Given the description of an element on the screen output the (x, y) to click on. 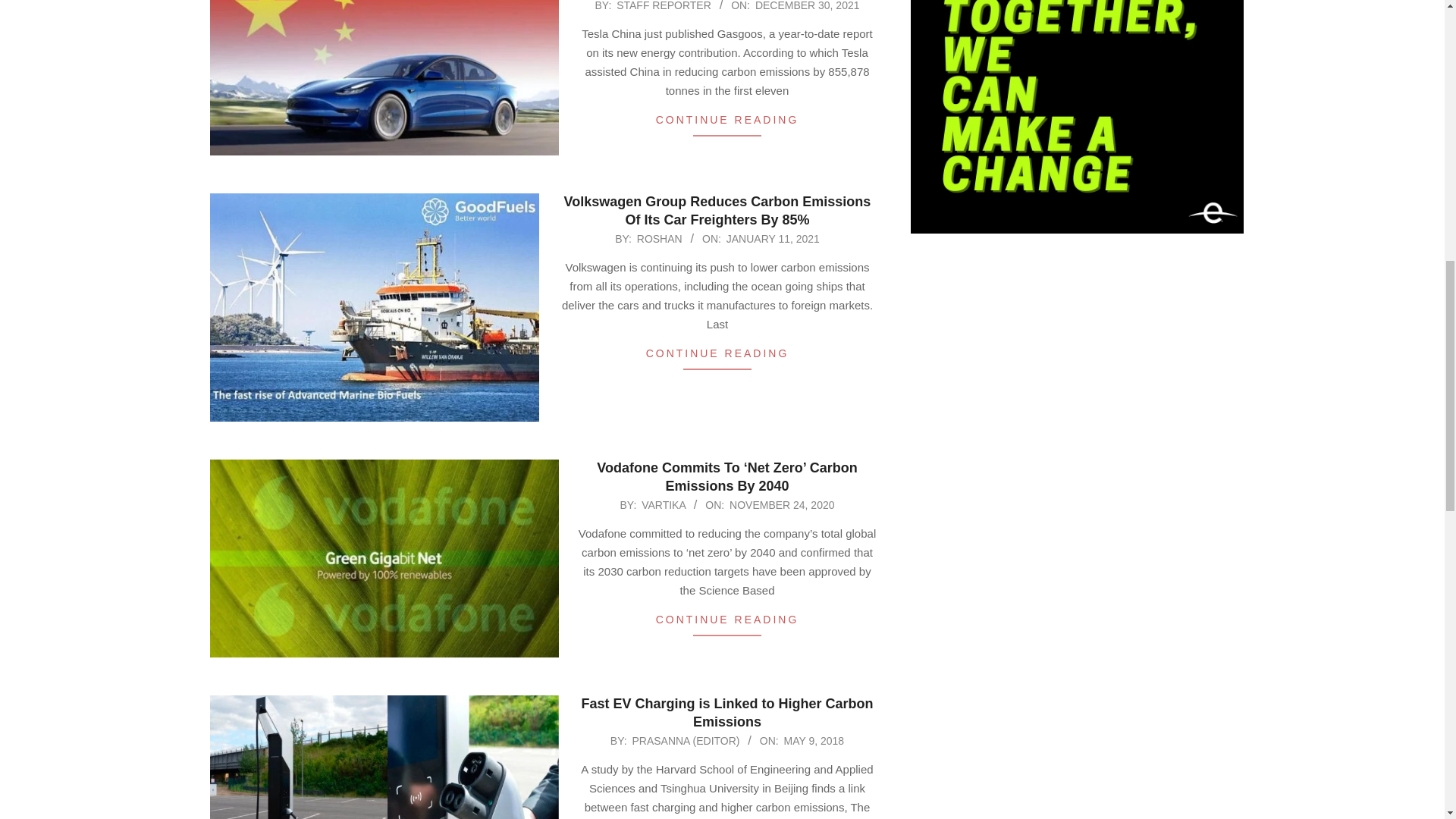
Tuesday, November 24, 2020, 10:02 am (781, 504)
Monday, January 11, 2021, 2:25 pm (772, 238)
Posts by Staff Reporter (663, 5)
Thursday, December 30, 2021, 6:51 pm (807, 5)
Posts by Vartika (663, 504)
Posts by Roshan (659, 238)
Wednesday, May 9, 2018, 3:15 pm (814, 740)
